Given the description of an element on the screen output the (x, y) to click on. 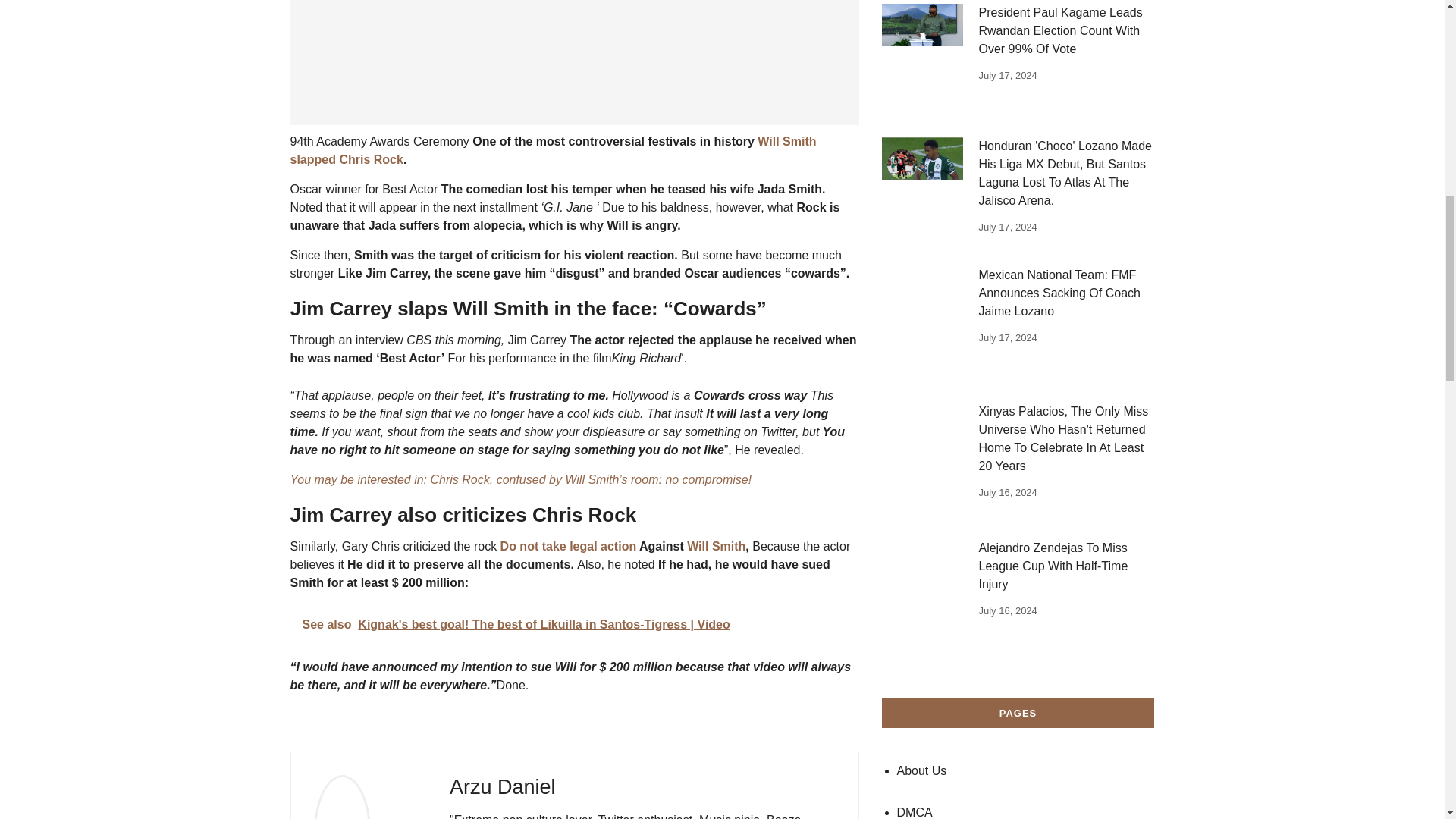
Advertisement (574, 62)
Do not take legal action (568, 545)
Will Smith (716, 545)
Will Smith slapped Chris Rock (552, 150)
